Given the description of an element on the screen output the (x, y) to click on. 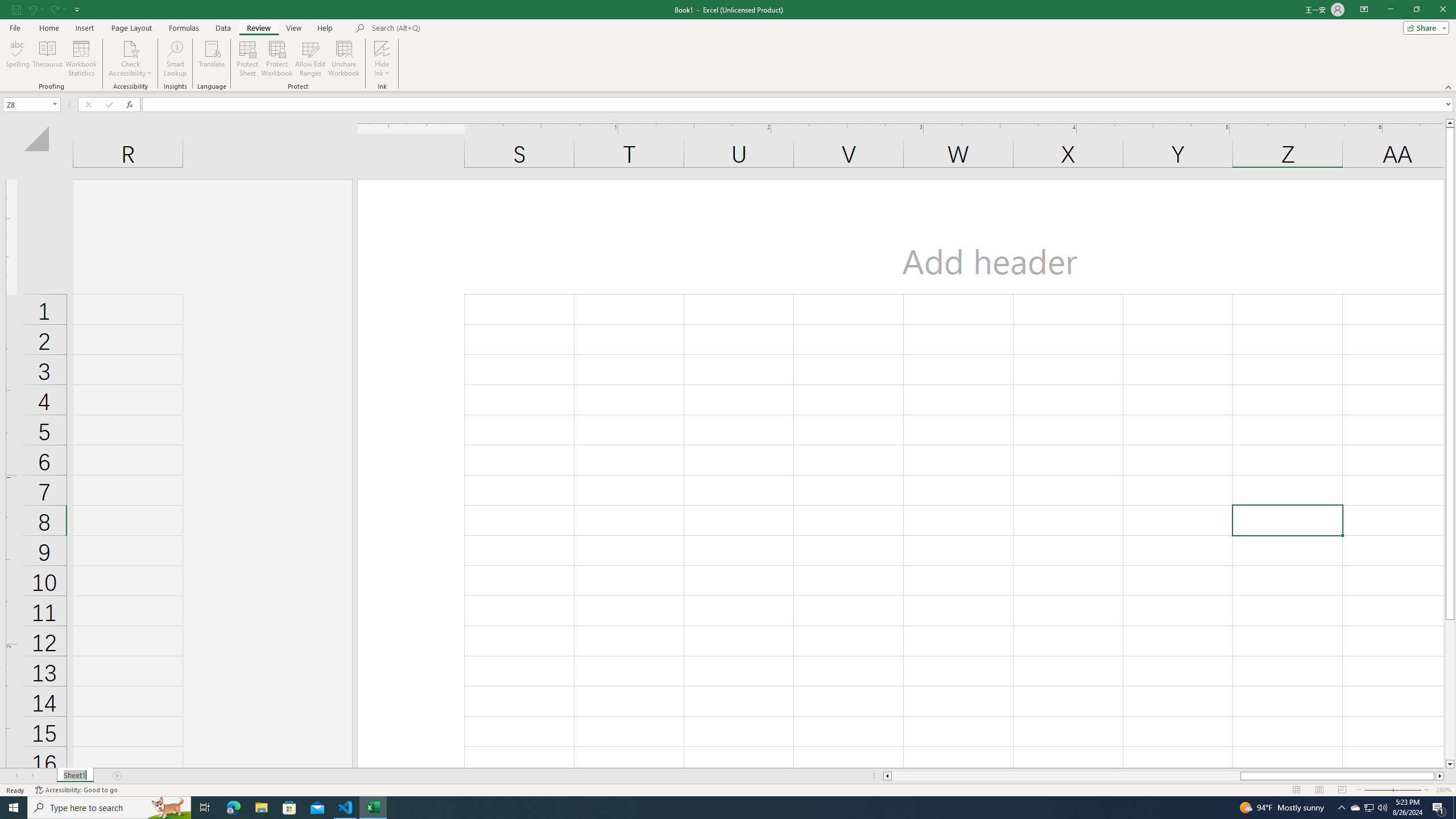
Check Accessibility (129, 58)
Hide Ink (381, 48)
Protect Workbook... (277, 58)
